Given the description of an element on the screen output the (x, y) to click on. 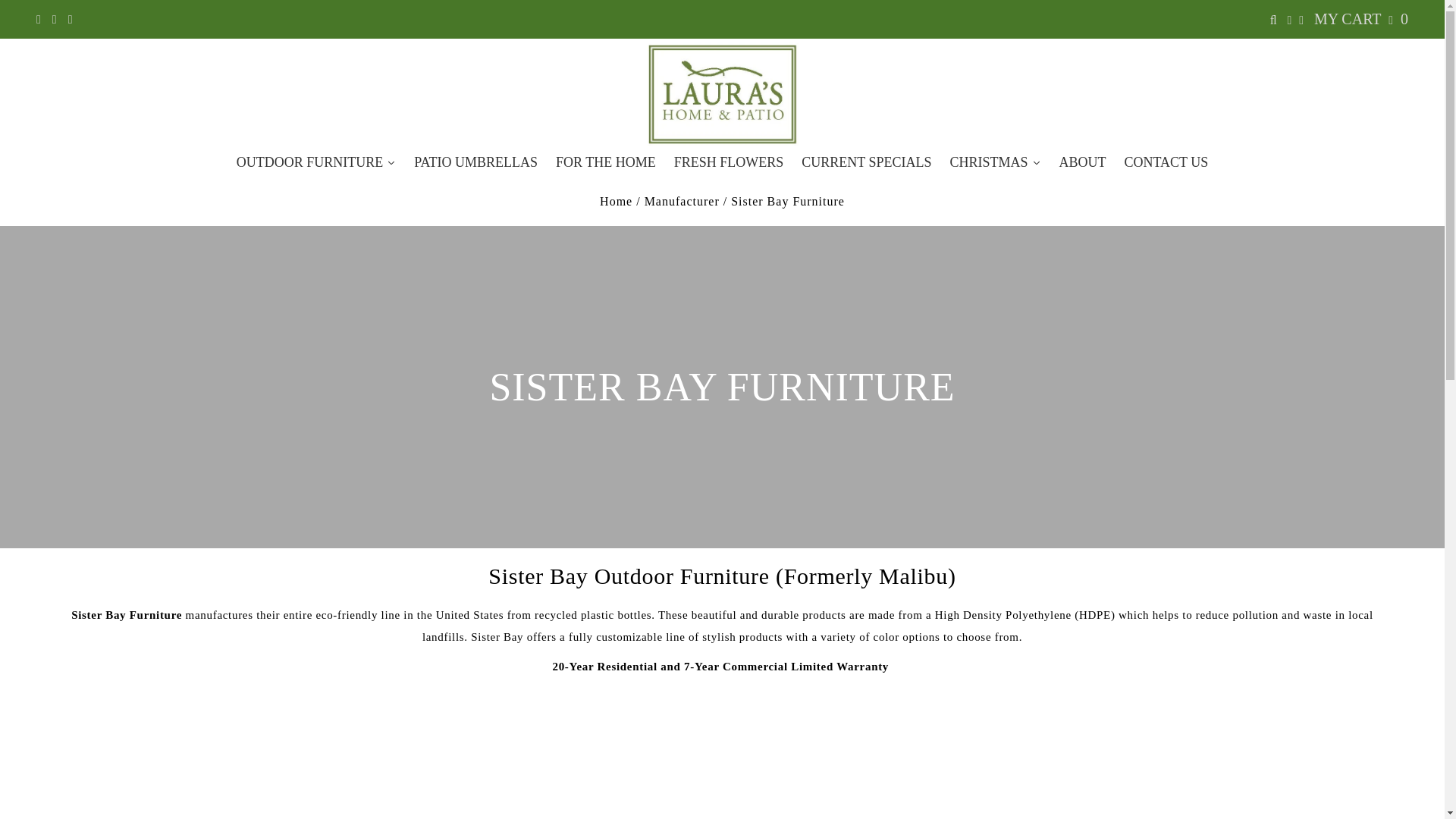
CONTACT US (1166, 162)
FOR THE HOME (606, 162)
FRESH FLOWERS (729, 162)
OUTDOOR FURNITURE (316, 162)
PATIO UMBRELLAS (475, 162)
FOR THE HOME (606, 162)
Home (615, 201)
CHRISTMAS (994, 162)
CURRENT SPECIALS (866, 162)
FRESH FLOWERS (729, 162)
